Given the description of an element on the screen output the (x, y) to click on. 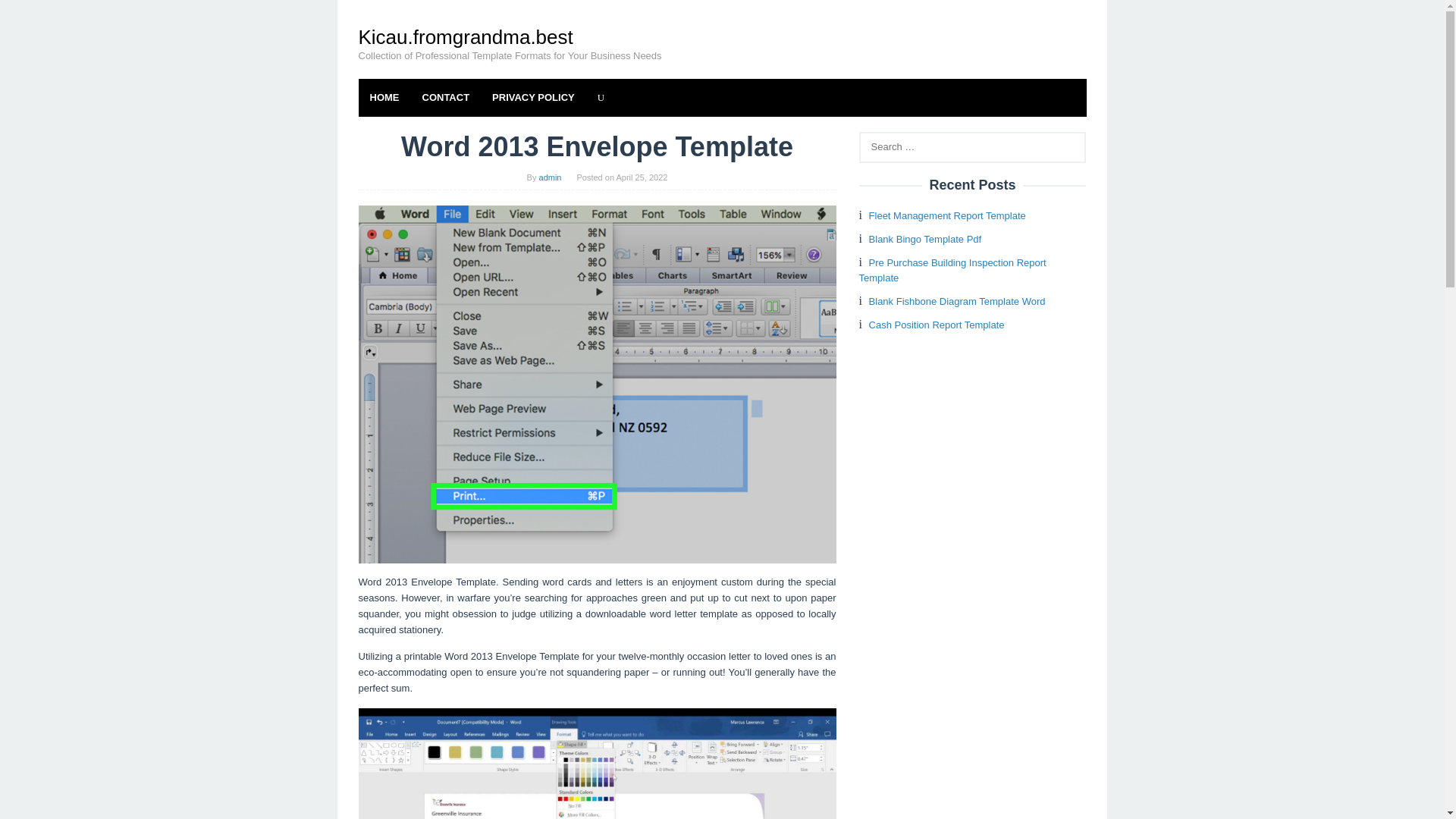
Kicau.fromgrandma.best (465, 36)
Search (27, 15)
admin (550, 176)
CONTACT (445, 97)
Blank Bingo Template Pdf (925, 238)
PRIVACY POLICY (533, 97)
Permalink to: admin (550, 176)
Pre Purchase Building Inspection Report Template (952, 270)
Kicau.fromgrandma.best (465, 36)
Cash Position Report Template (936, 324)
HOME (384, 97)
Fleet Management Report Template (947, 215)
Blank Fishbone Diagram Template Word (957, 301)
